Given the description of an element on the screen output the (x, y) to click on. 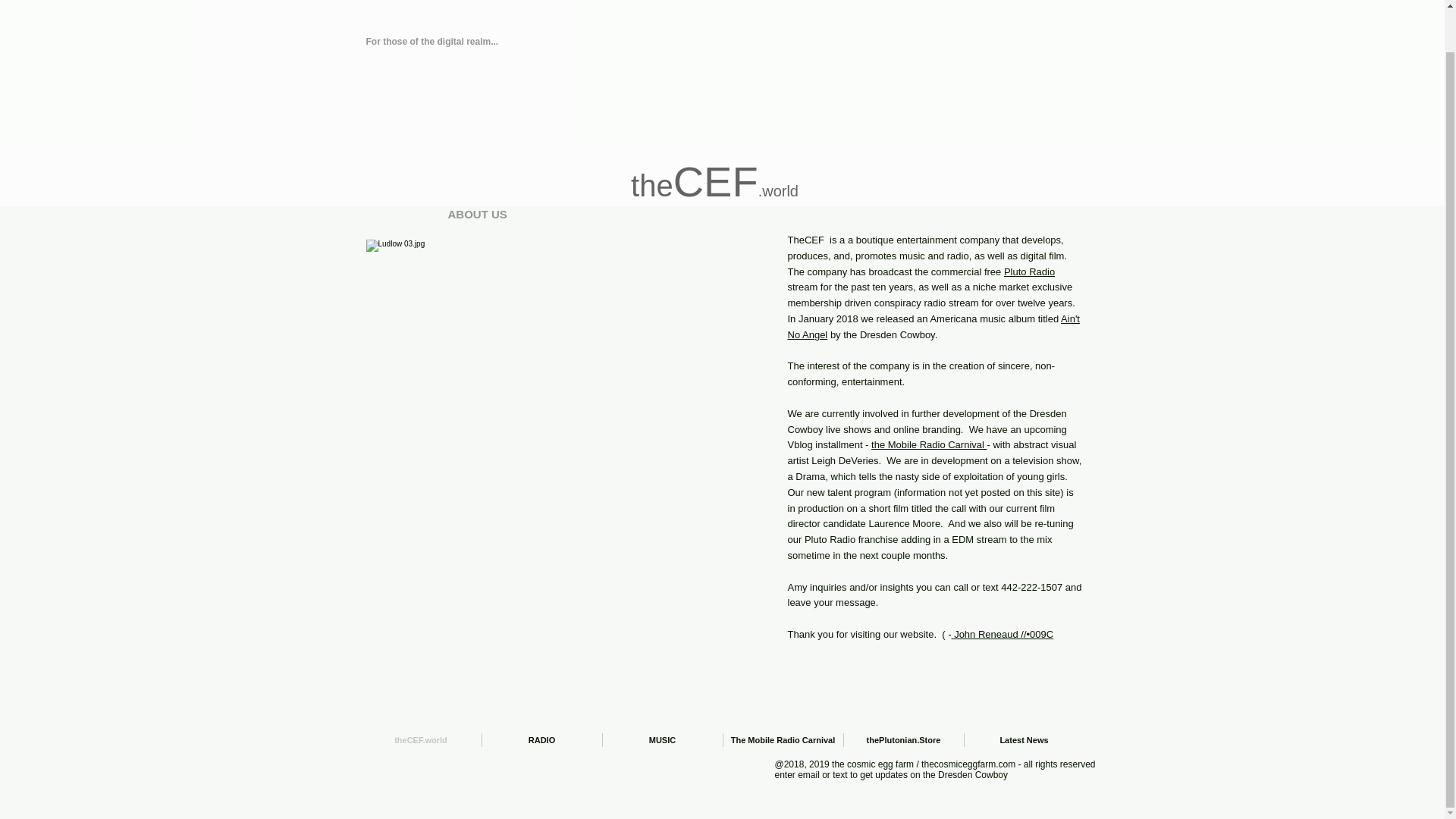
Pluto Radio (1029, 271)
the Mobile Radio Carnival (928, 444)
MUSIC (662, 739)
RADIO (541, 739)
Latest News (1023, 739)
thePlutonian.Store (902, 739)
The Mobile Radio Carnival (783, 739)
Ain't No Angel (932, 326)
theCEF.world (421, 739)
